Given the description of an element on the screen output the (x, y) to click on. 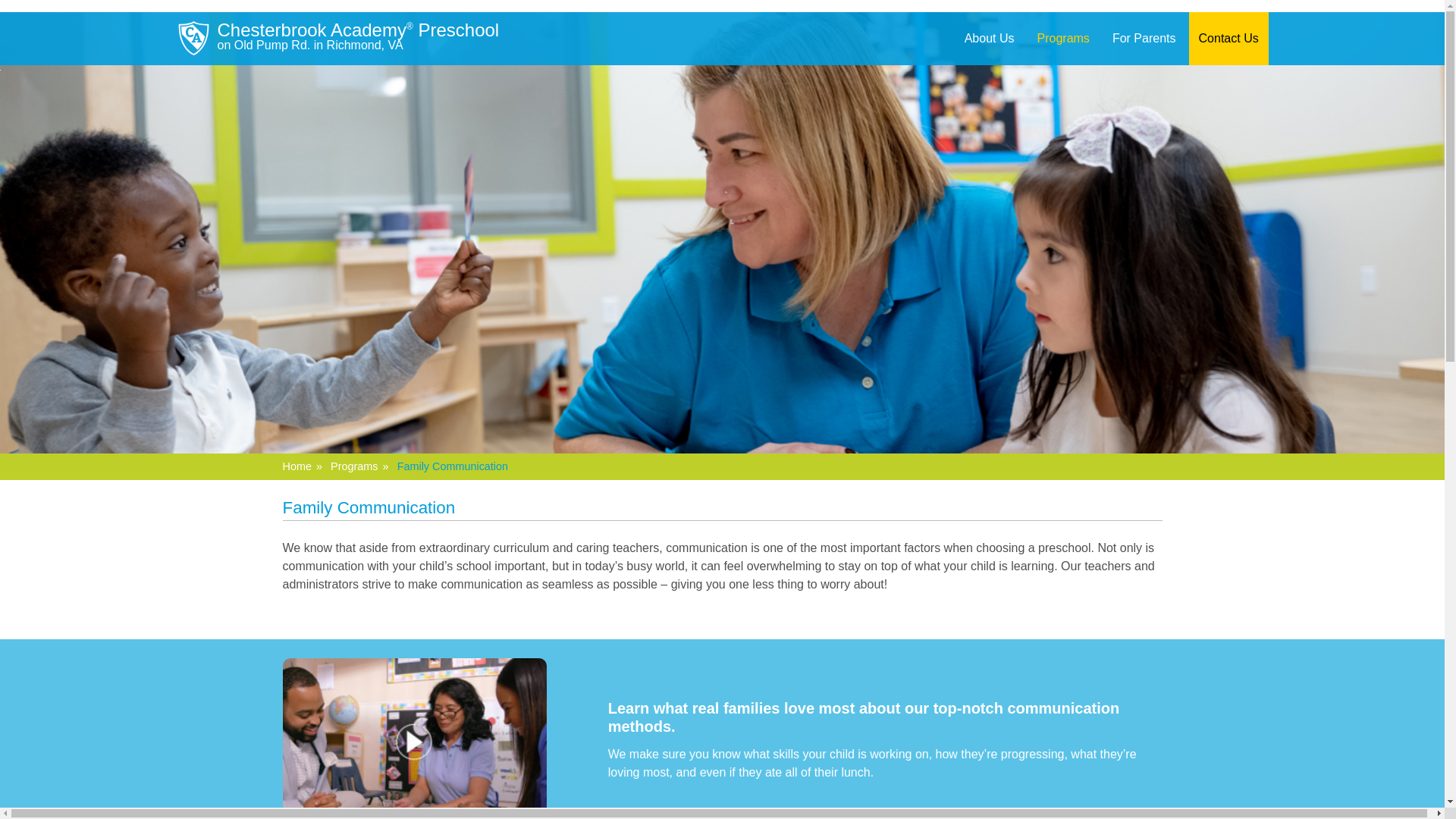
Contact Us (1228, 38)
For Parents (1143, 38)
About Us (989, 38)
Programs (1063, 38)
